Given the description of an element on the screen output the (x, y) to click on. 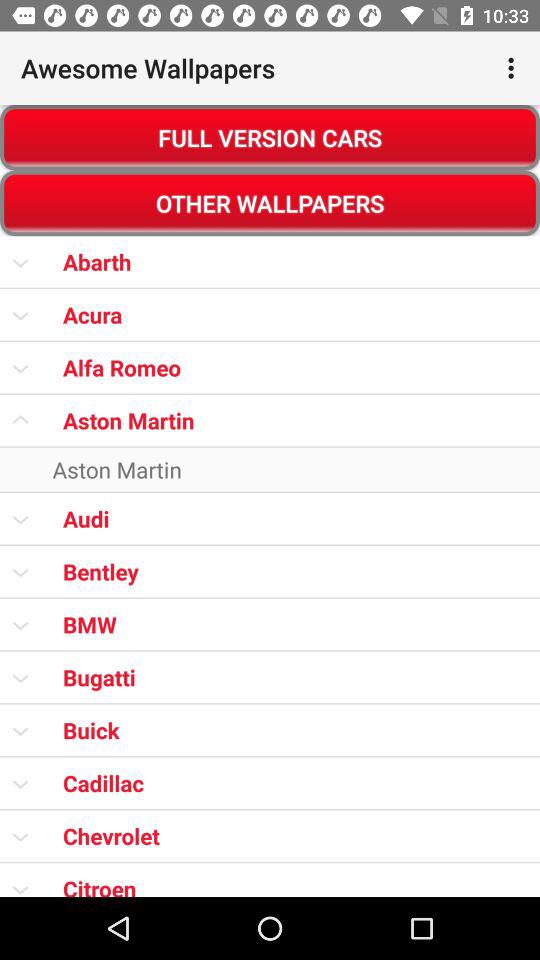
select the other wallpapers icon (270, 203)
